Given the description of an element on the screen output the (x, y) to click on. 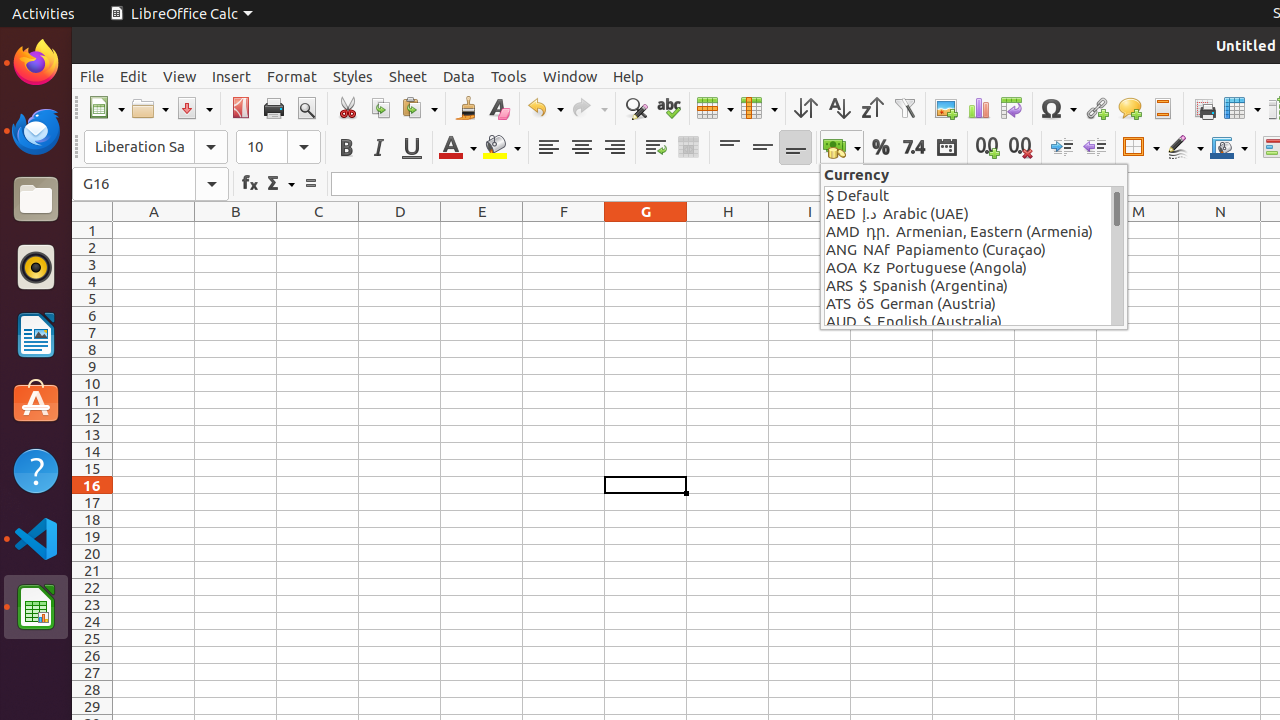
B1 Element type: table-cell (236, 230)
Files Element type: push-button (36, 199)
Wrap Text Element type: push-button (655, 147)
‪AED‬  ‫د.إ‏‬  ‪Arabic (UAE)‬ Element type: list-item (968, 214)
Visual Studio Code Element type: push-button (36, 538)
